Given the description of an element on the screen output the (x, y) to click on. 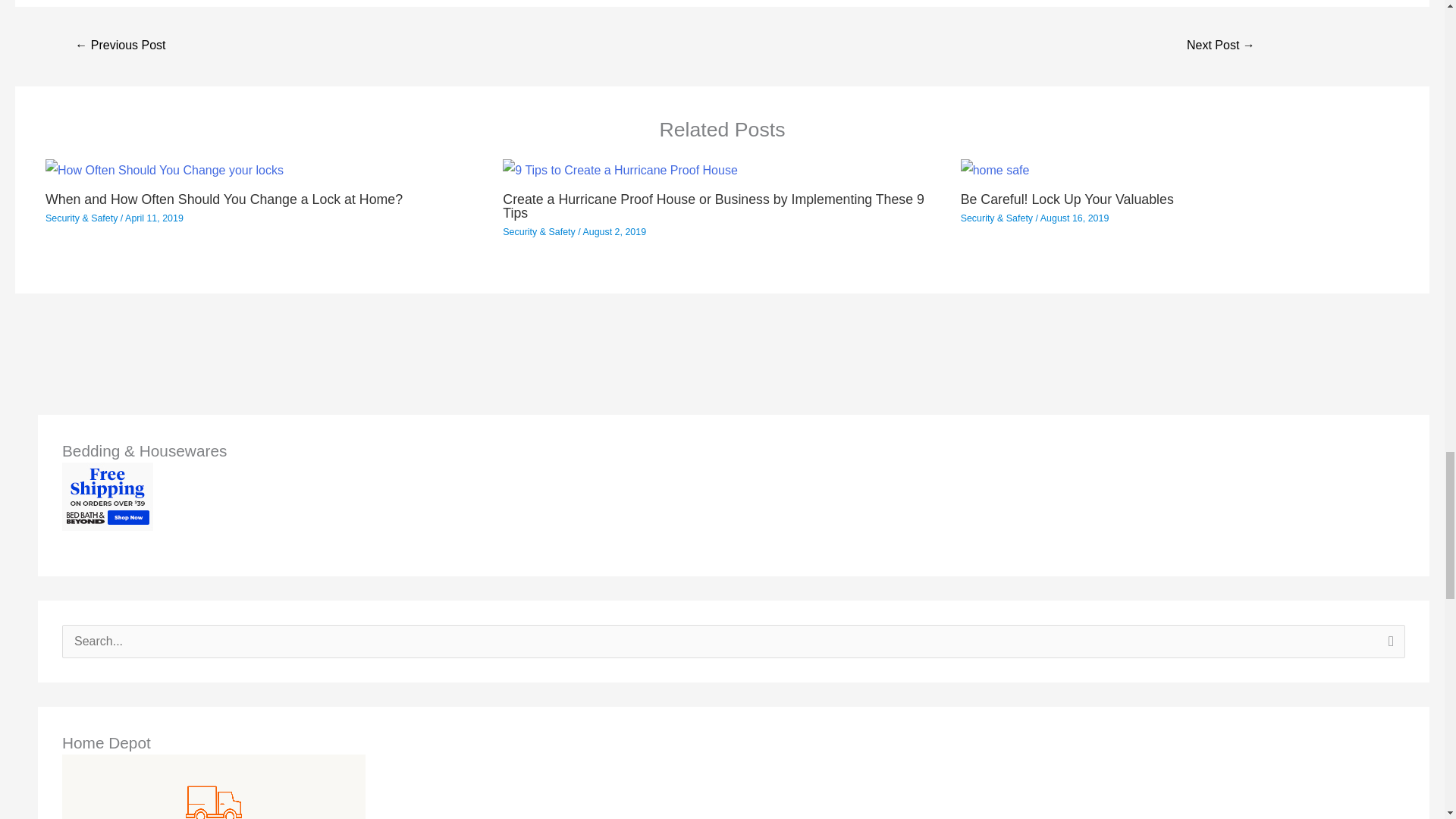
When and How Often Should You Change a Lock at Home? (224, 199)
4 Solutions For Picking the Perfect Down Comforter (1220, 46)
9 Dreamy Coastal Bedroom Ideas for Master or Guest Rooms (119, 46)
